Given the description of an element on the screen output the (x, y) to click on. 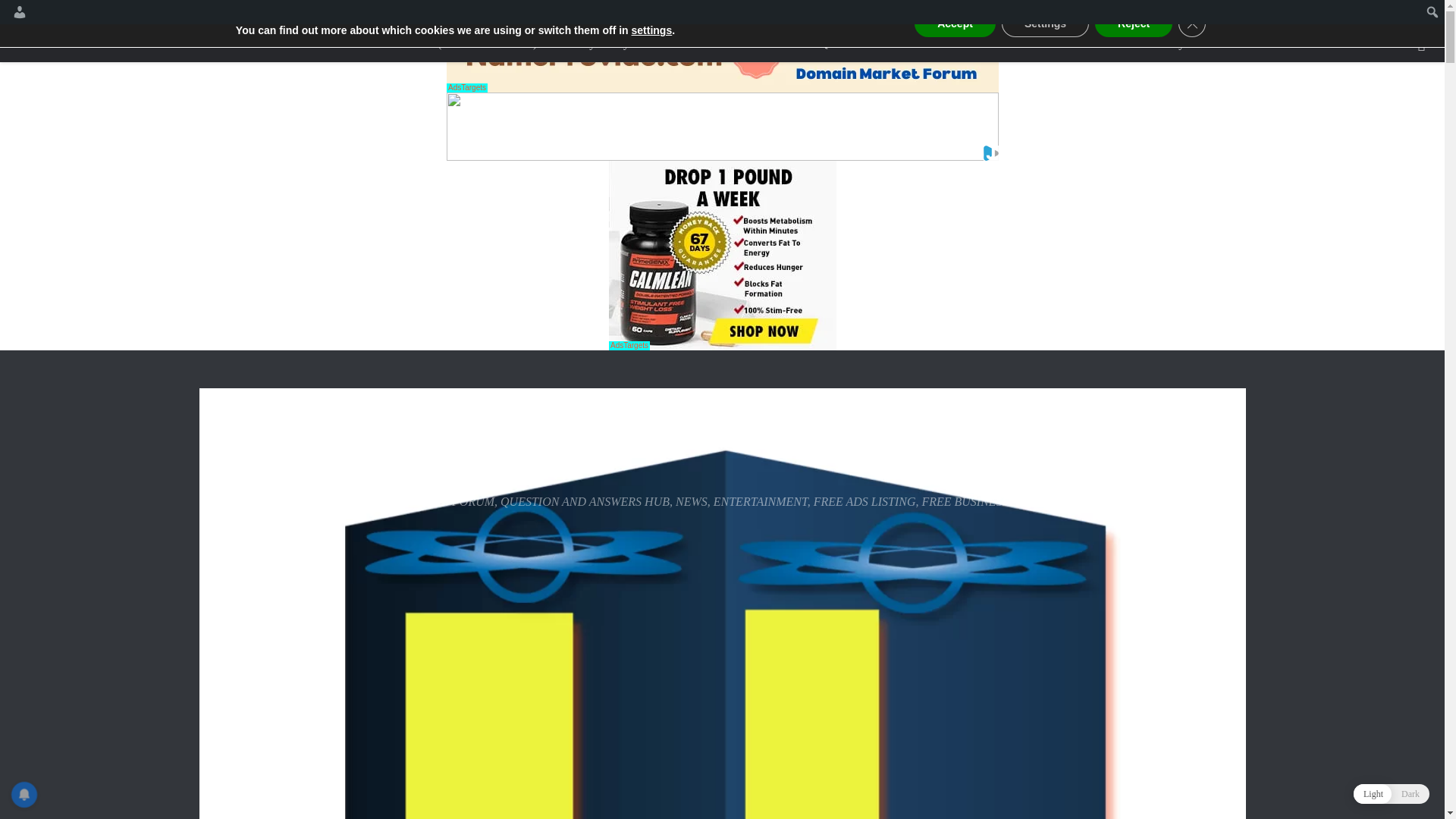
Home (223, 43)
About us (282, 43)
Soccer Livescores (1101, 43)
Search (15, 12)
INFINITY LOADED (363, 441)
My Account (1198, 43)
Privacy Policy (593, 43)
Contact us (351, 43)
Advertise With Us (991, 43)
Terms and Conditions (704, 43)
